Given the description of an element on the screen output the (x, y) to click on. 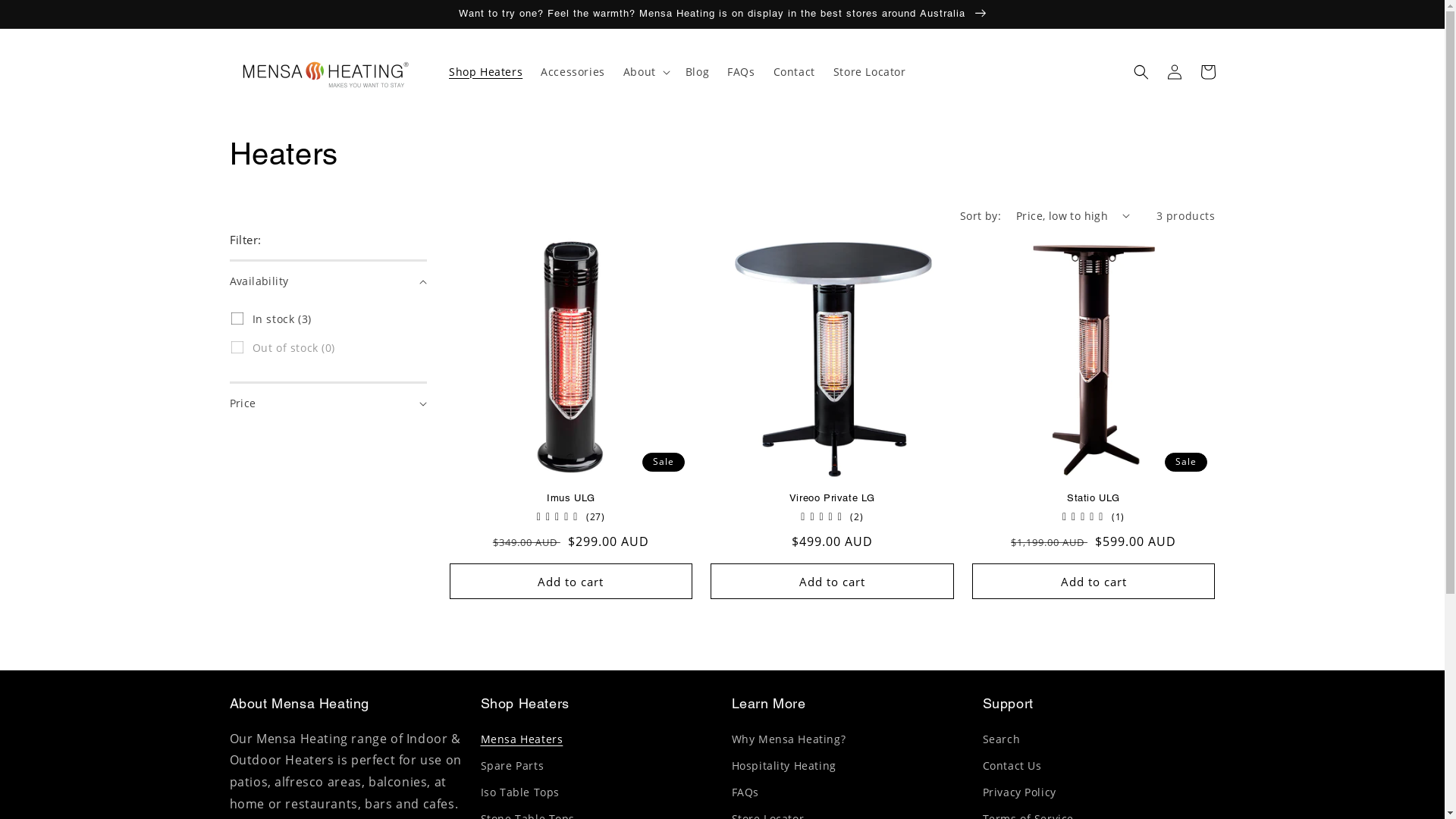
Statio ULG Element type: text (1093, 498)
Blog Element type: text (697, 71)
Iso Table Tops Element type: text (519, 791)
Privacy Policy Element type: text (1019, 791)
Hospitality Heating Element type: text (783, 765)
Store Locator Element type: text (869, 71)
Mensa Heaters Element type: text (521, 740)
Why Mensa Heating? Element type: text (788, 740)
Add to cart Element type: text (1093, 581)
Spare Parts Element type: text (512, 765)
Accessories Element type: text (572, 71)
Log in Element type: text (1173, 71)
Shop Heaters Element type: text (485, 71)
Cart Element type: text (1206, 71)
Contact Us Element type: text (1011, 765)
Add to cart Element type: text (831, 581)
FAQs Element type: text (744, 791)
Contact Element type: text (794, 71)
Imus ULG Element type: text (570, 498)
Add to cart Element type: text (570, 581)
FAQs Element type: text (740, 71)
Search Element type: text (1001, 740)
Vireoo Private LG Element type: text (831, 498)
